Given the description of an element on the screen output the (x, y) to click on. 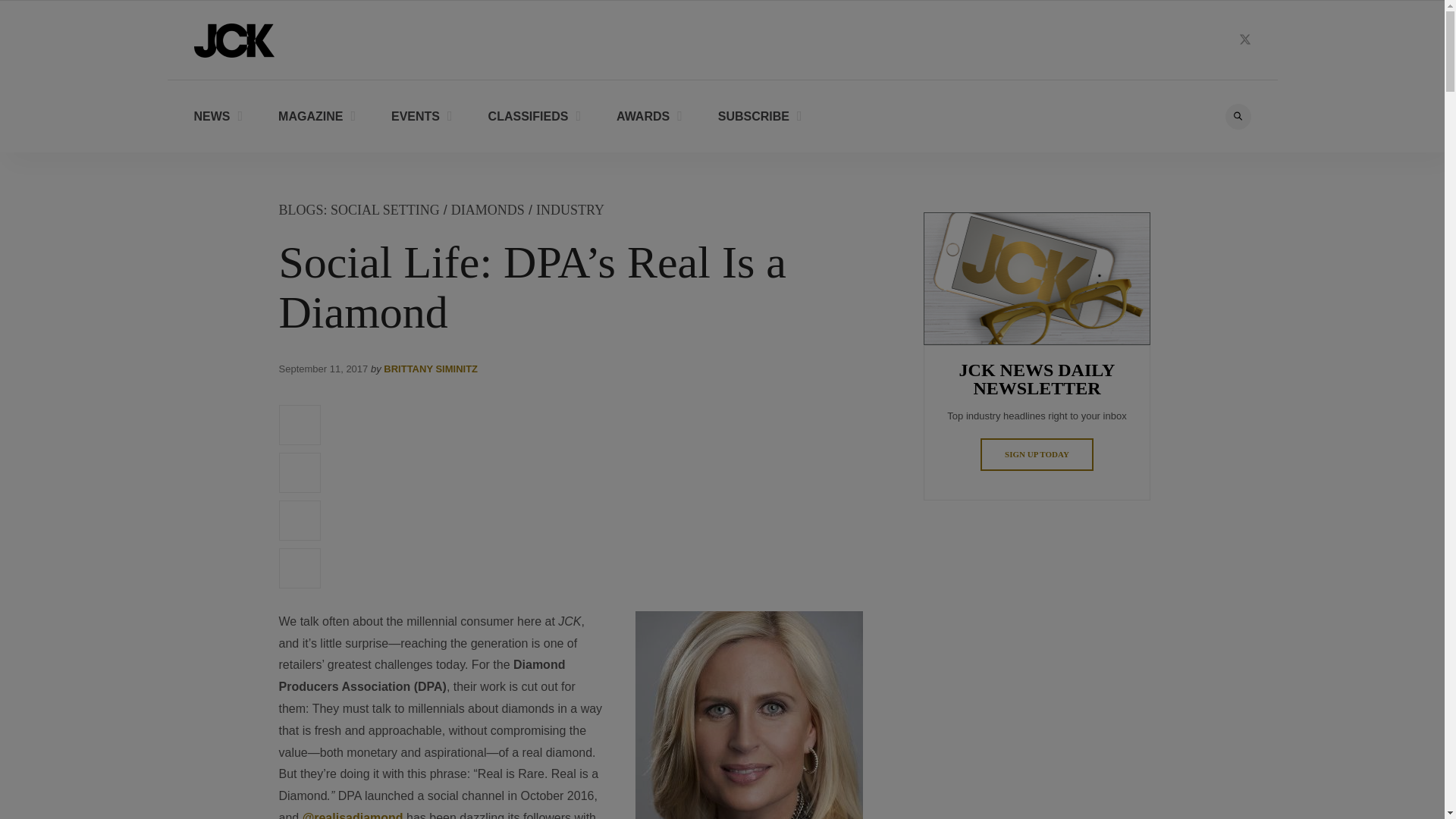
View all posts in Industry (569, 209)
MAGAZINE (316, 116)
View all posts in Blogs: Social Setting (359, 209)
JCK (234, 39)
View all posts in Diamonds (487, 209)
